Given the description of an element on the screen output the (x, y) to click on. 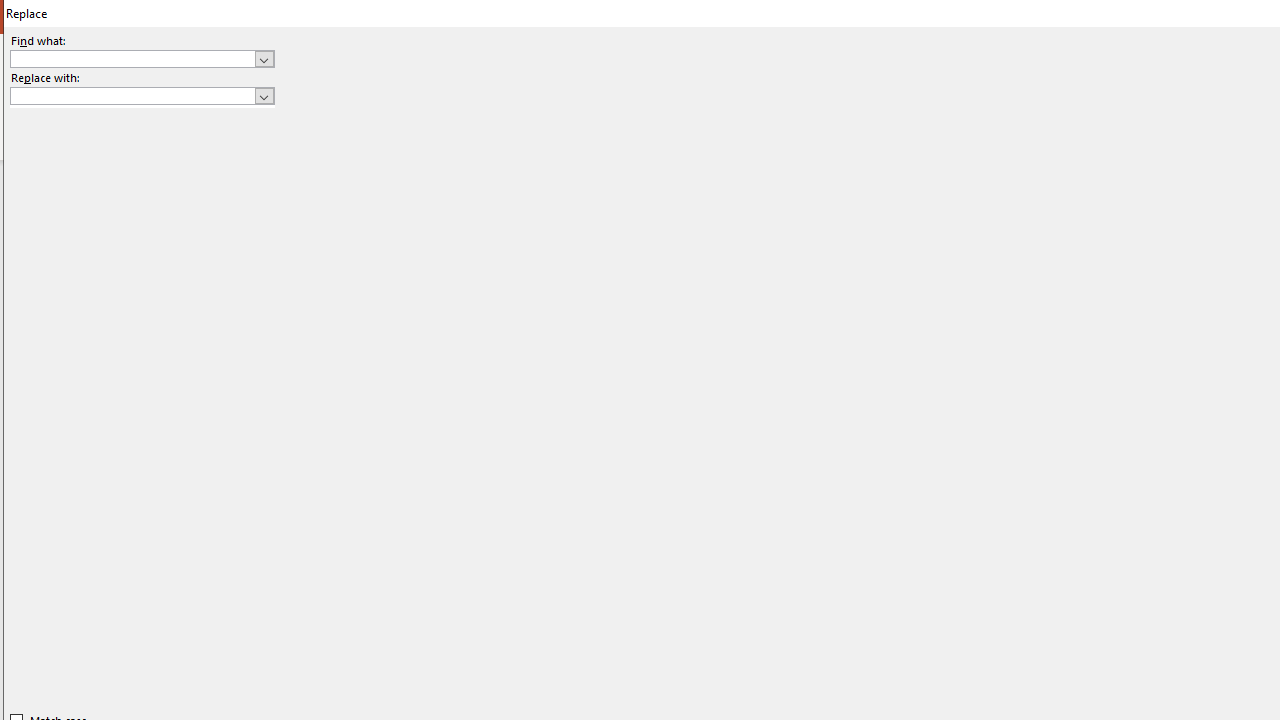
Find what (132, 58)
Replace with (142, 96)
Find what (142, 58)
Replace with (132, 95)
